Given the description of an element on the screen output the (x, y) to click on. 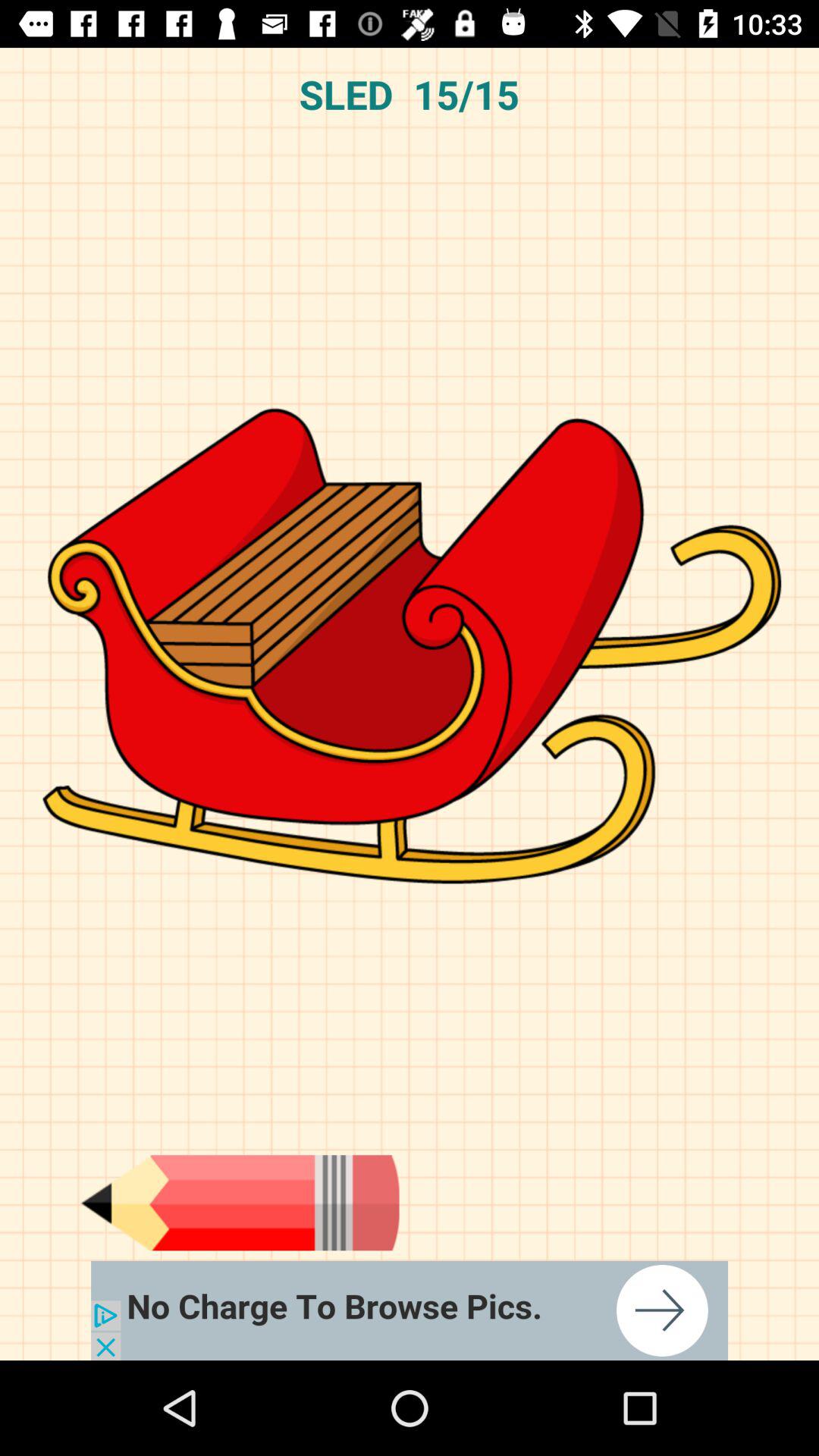
go next (239, 1202)
